Given the description of an element on the screen output the (x, y) to click on. 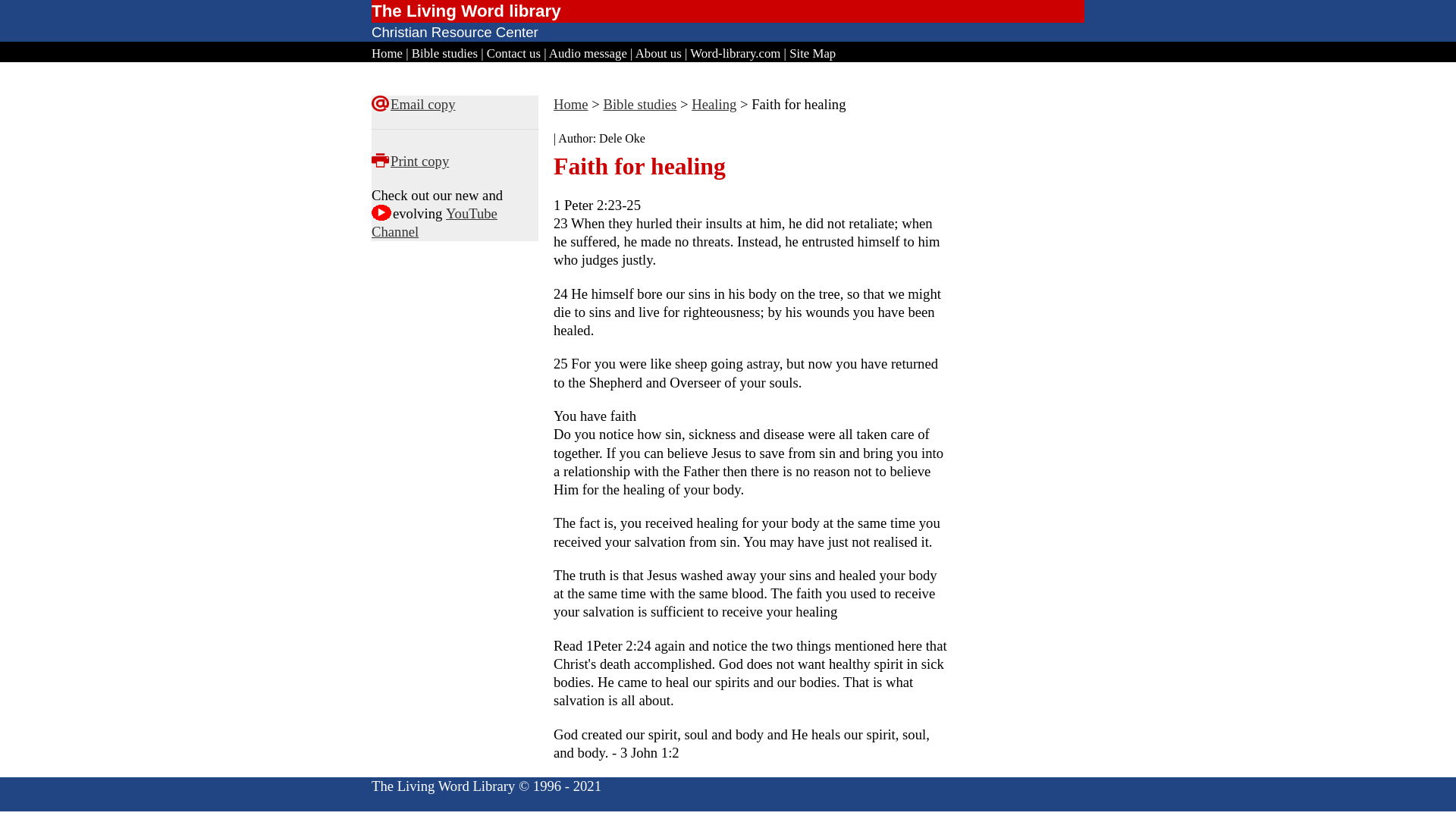
YouTube Channel (434, 222)
The Living Word library (465, 10)
Home (387, 52)
Print copy (419, 160)
Healing (713, 104)
Site Map (812, 52)
Contact us (513, 52)
Home (570, 104)
Word-library.com (735, 52)
Bible studies (639, 104)
Bible studies (444, 52)
About us (657, 52)
Email copy (422, 104)
Audio message (587, 52)
